Given the description of an element on the screen output the (x, y) to click on. 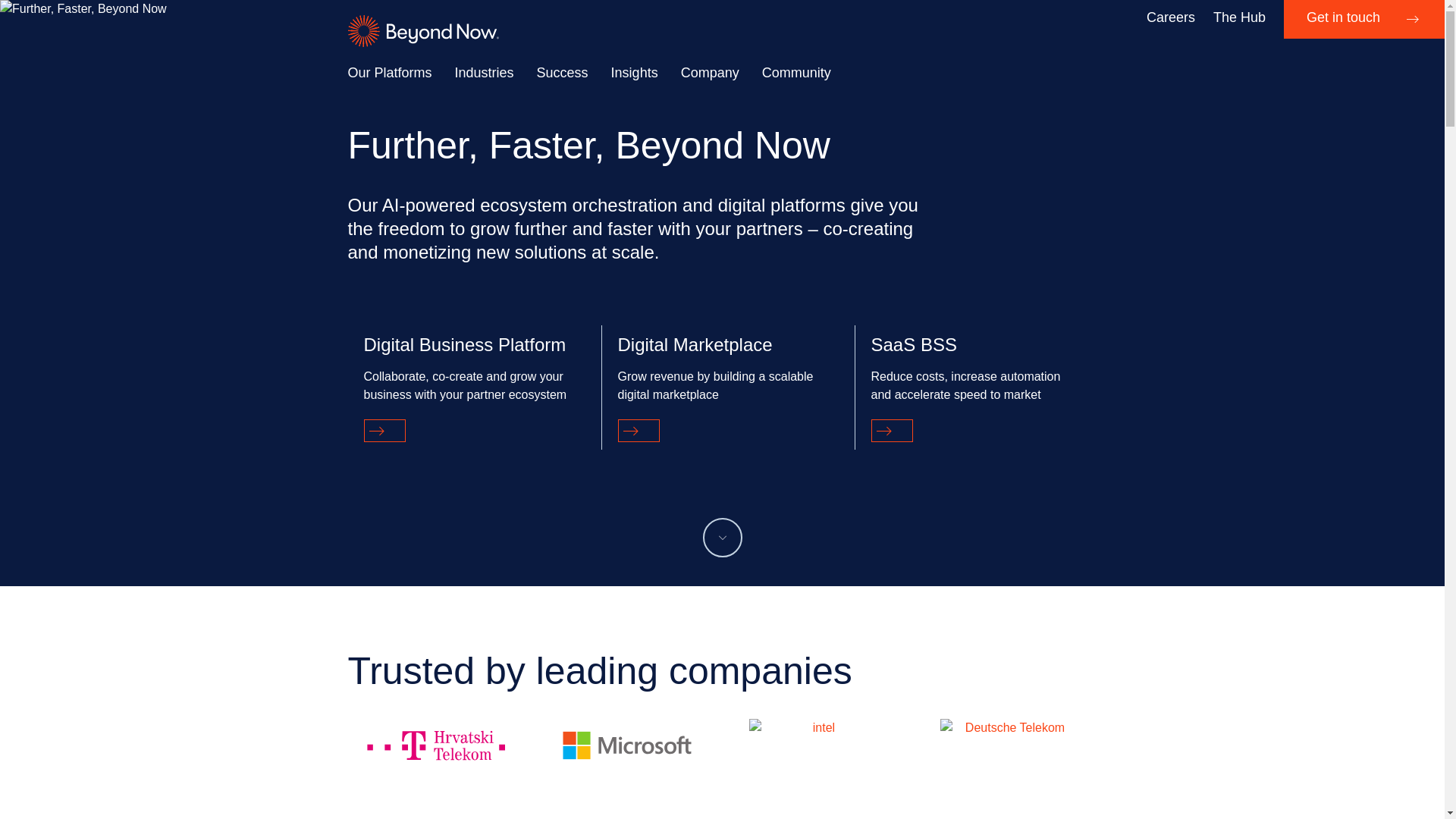
Our Platforms (388, 72)
Insights (634, 72)
Scroll to next section (721, 537)
Success (562, 72)
Industries (483, 72)
